Given the description of an element on the screen output the (x, y) to click on. 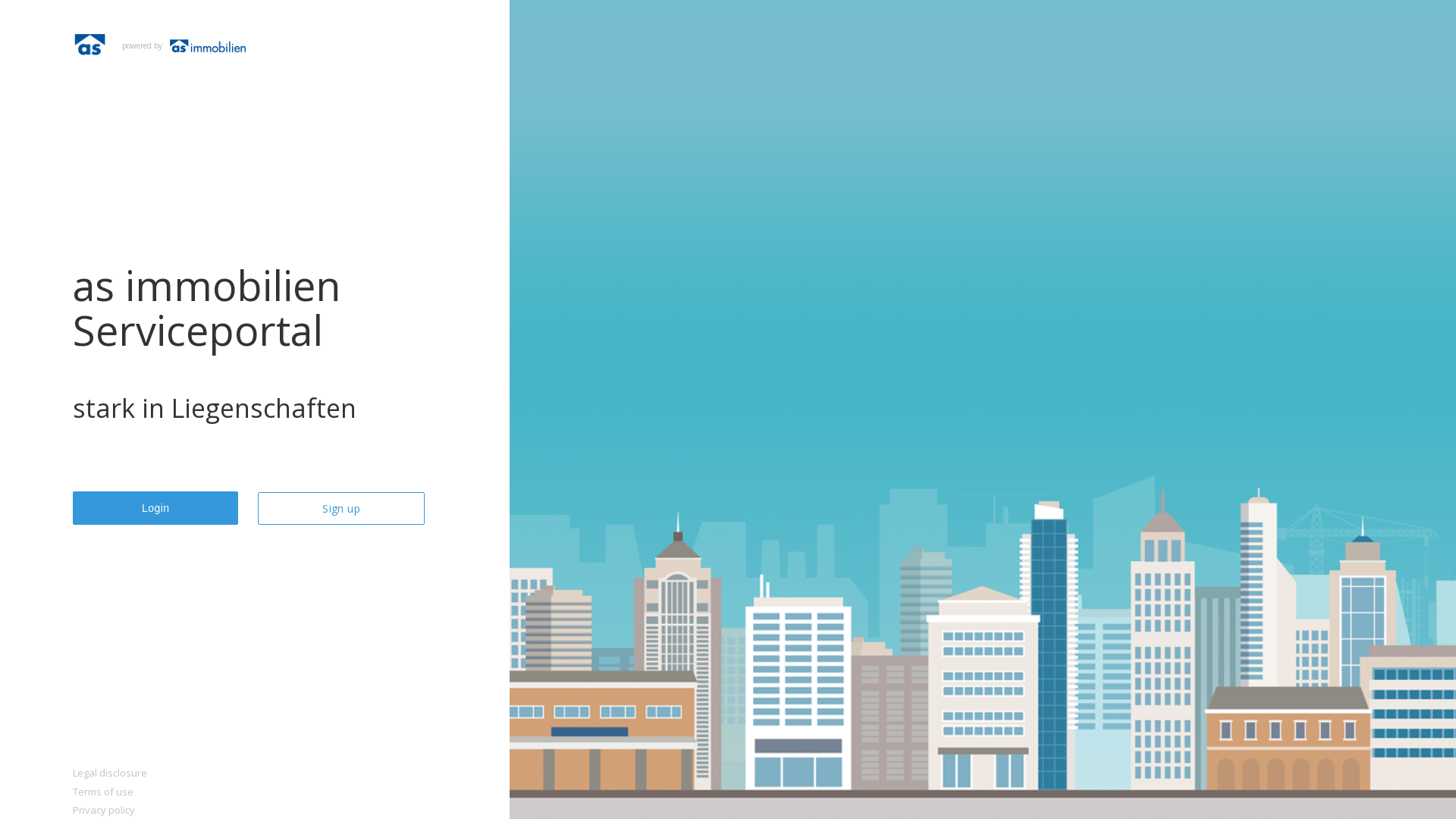
Privacy policy Element type: text (254, 810)
Legal disclosure Element type: text (254, 773)
Terms of use Element type: text (254, 791)
Sign up Element type: text (340, 508)
Login Element type: text (155, 508)
